Given the description of an element on the screen output the (x, y) to click on. 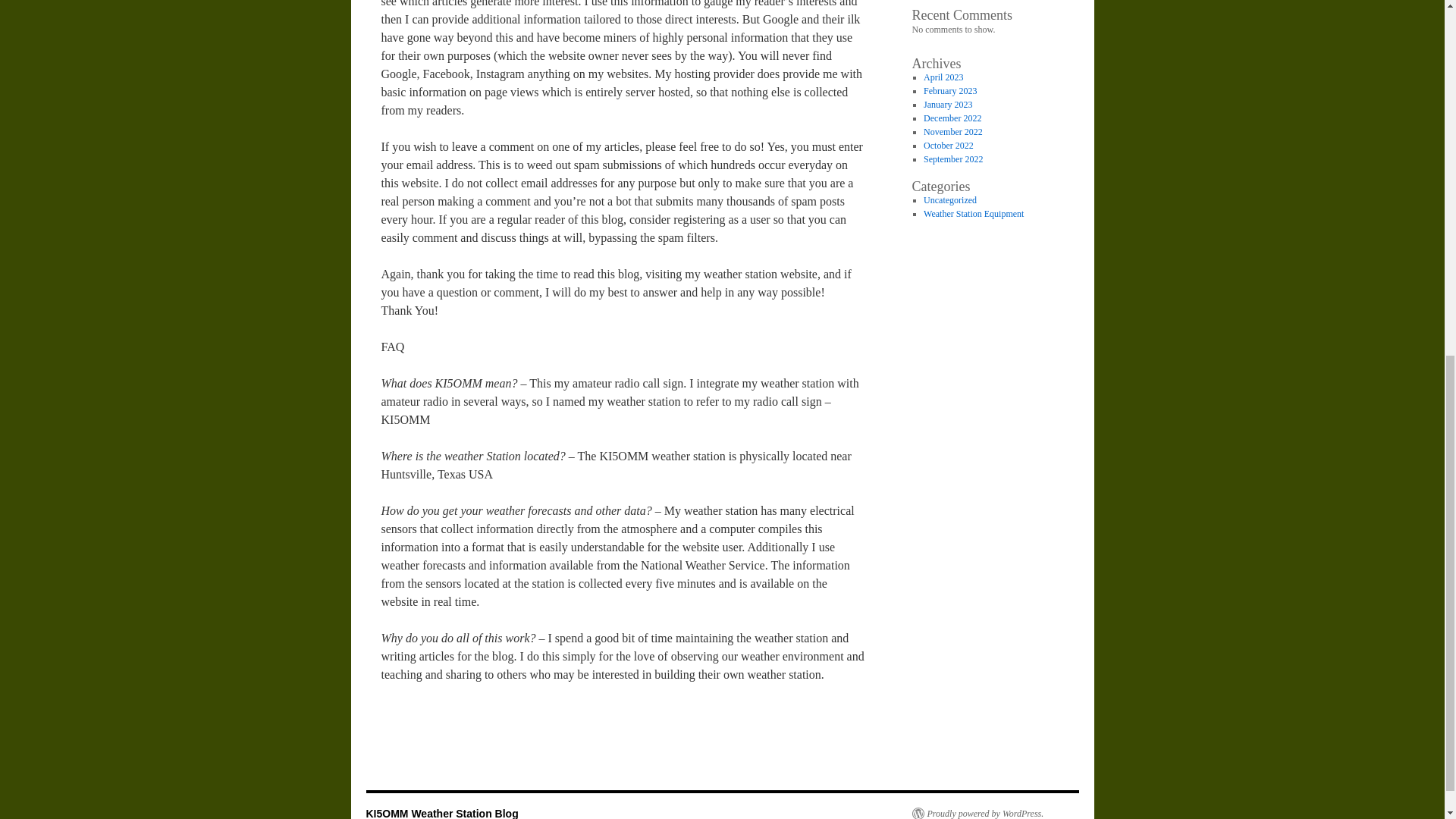
November 2022 (952, 131)
Weather Station Equipment (973, 213)
Uncategorized (949, 199)
February 2023 (949, 90)
April 2023 (942, 77)
January 2023 (947, 104)
September 2022 (952, 158)
October 2022 (948, 145)
December 2022 (952, 118)
